Given the description of an element on the screen output the (x, y) to click on. 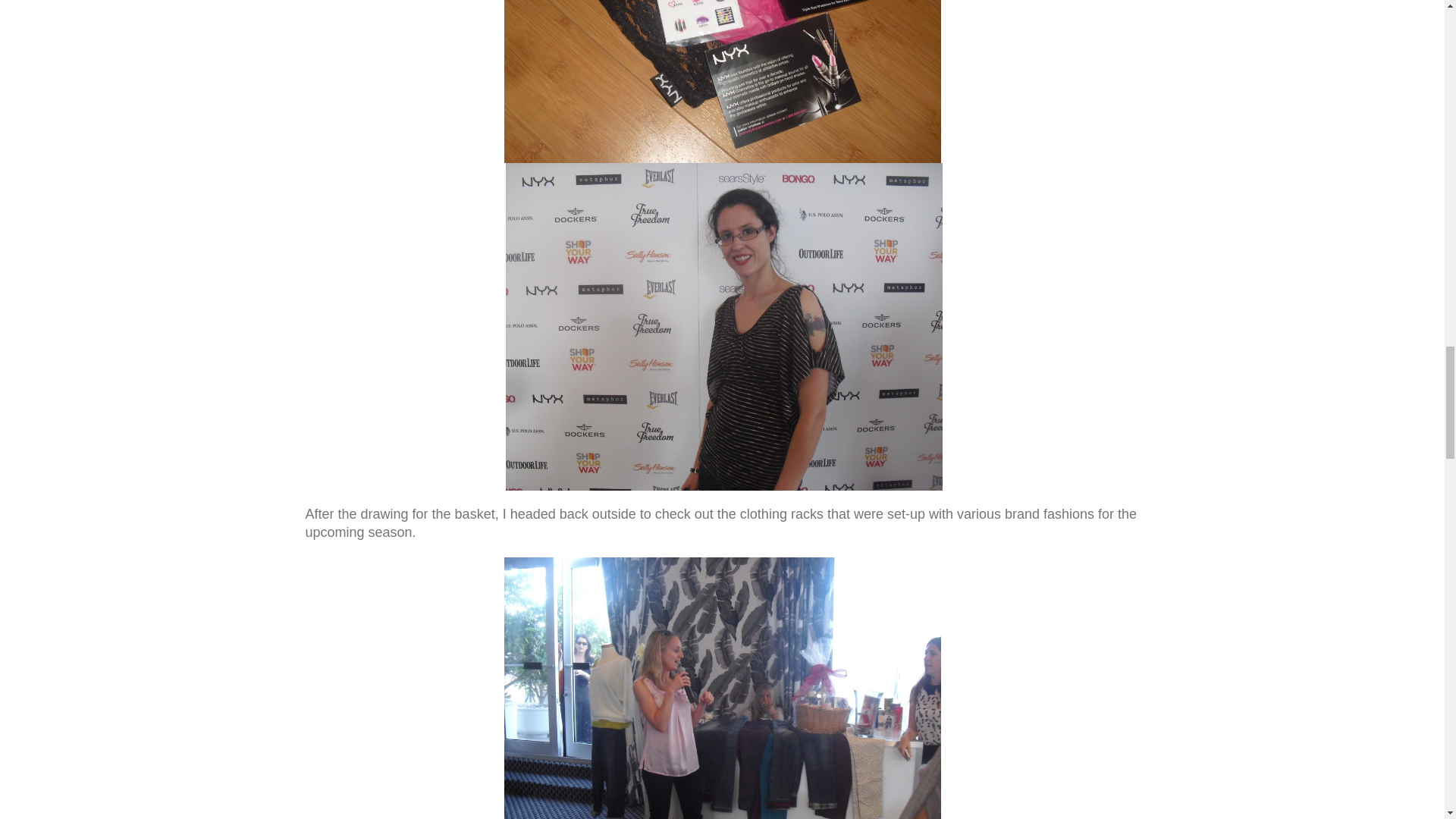
NYX eye makeup (721, 81)
